Given the description of an element on the screen output the (x, y) to click on. 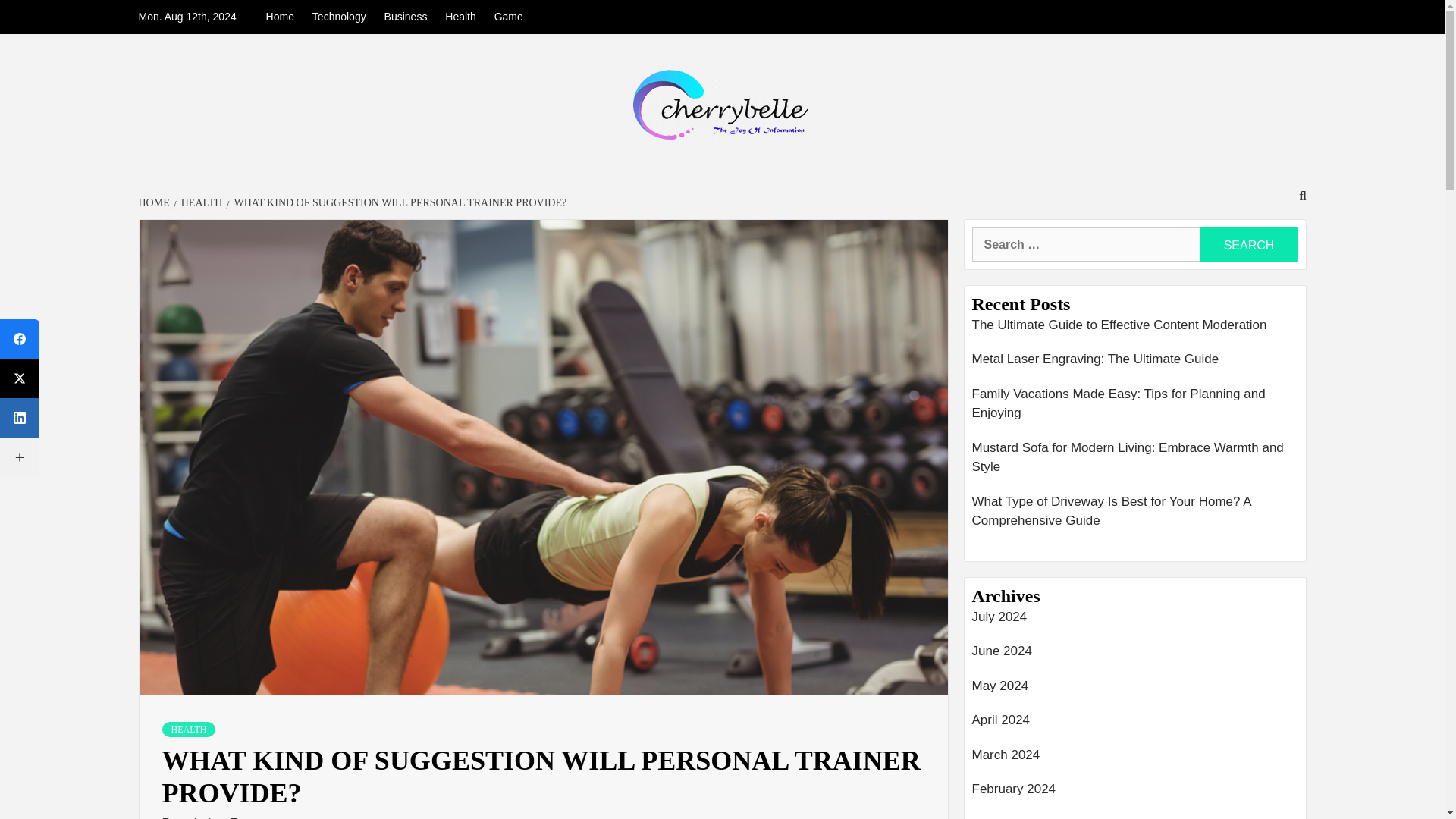
June 2024 (1135, 655)
May 2024 (1135, 689)
March 2024 (1135, 759)
HOME (155, 202)
Search (1248, 244)
Search (1248, 244)
The Ultimate Guide to Effective Content Moderation (1135, 329)
Mustard Sofa for Modern Living: Embrace Warmth and Style (1135, 461)
Game (508, 17)
Metal Laser Engraving: The Ultimate Guide (1135, 362)
